Given the description of an element on the screen output the (x, y) to click on. 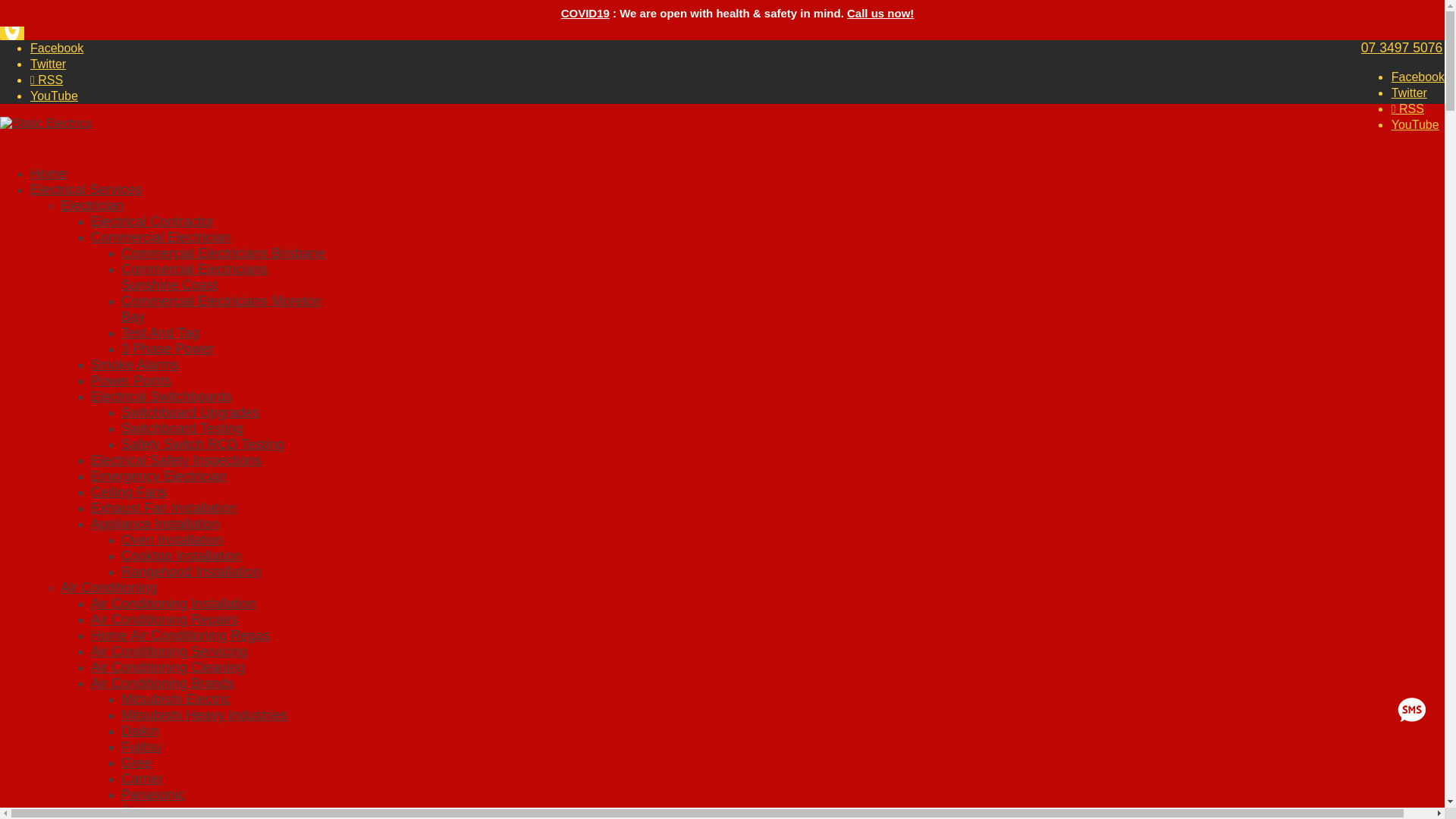
Air Conditioning (109, 587)
Commercial Electrician (160, 237)
Commercial Electricians Moreton Bay (220, 308)
Electrical Services (85, 200)
RSS (1407, 108)
Facebook (56, 47)
YouTube (54, 95)
Air Conditioning Installation (173, 603)
Safety Switch RCD Testing (201, 444)
Electrical Switchboards (160, 396)
